Given the description of an element on the screen output the (x, y) to click on. 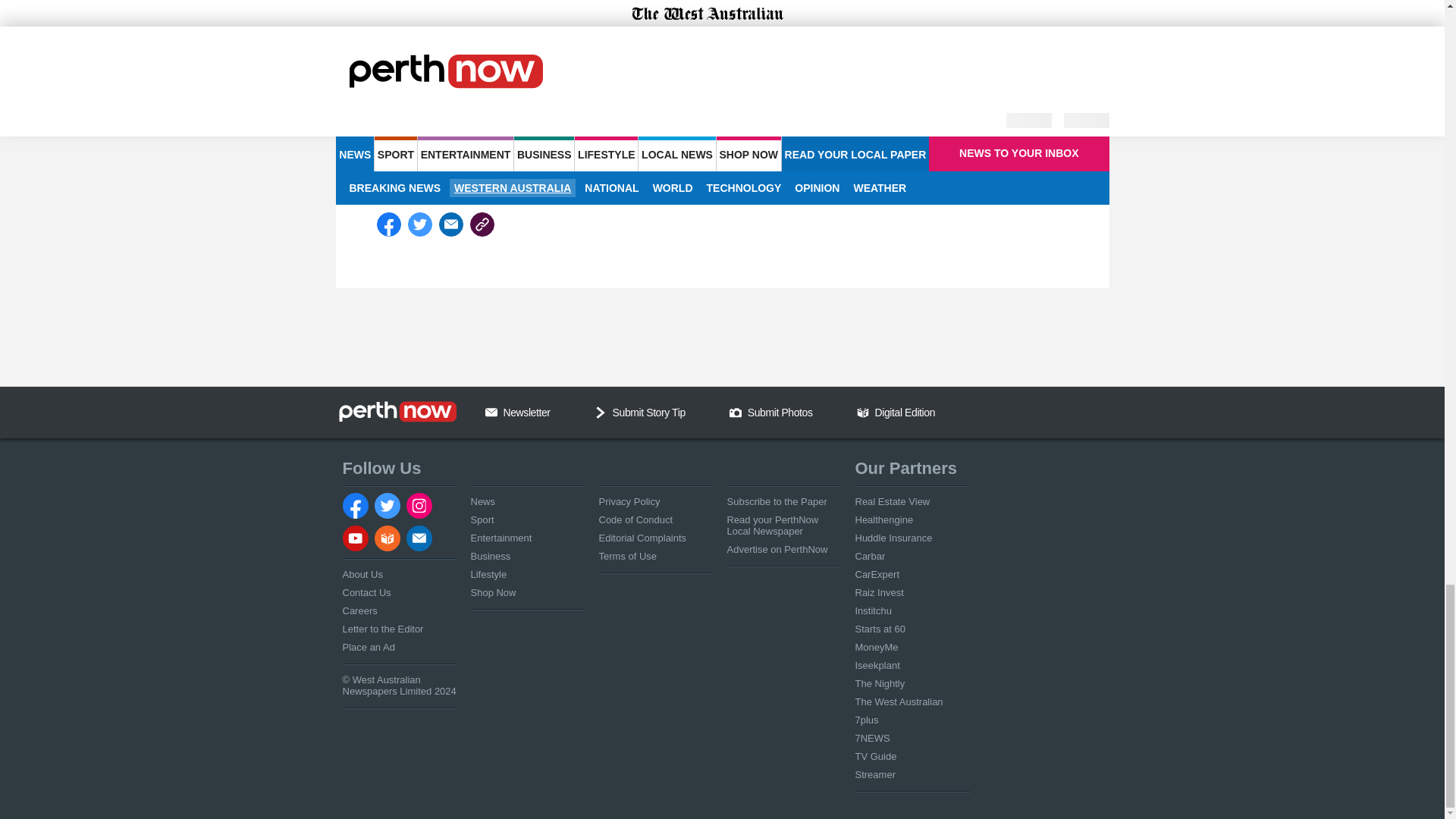
Email Us (490, 412)
